Given the description of an element on the screen output the (x, y) to click on. 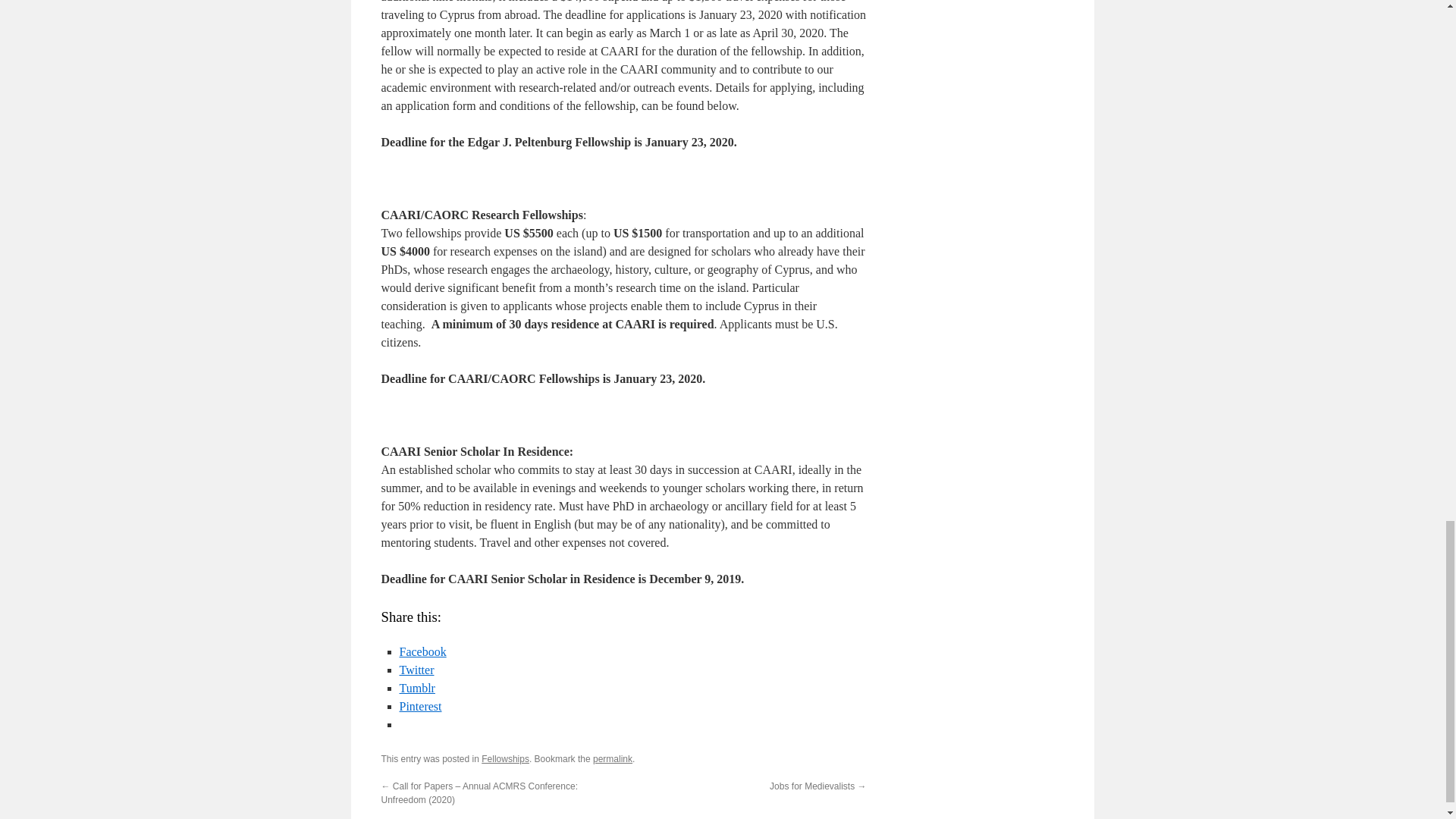
Pinterest (419, 706)
Click to share on Facebook (421, 651)
Facebook (421, 651)
Click to share on Pinterest (419, 706)
permalink (611, 758)
Tumblr (415, 687)
Fellowships (505, 758)
Click to share on Tumblr (415, 687)
Click to share on Twitter (415, 669)
